Given the description of an element on the screen output the (x, y) to click on. 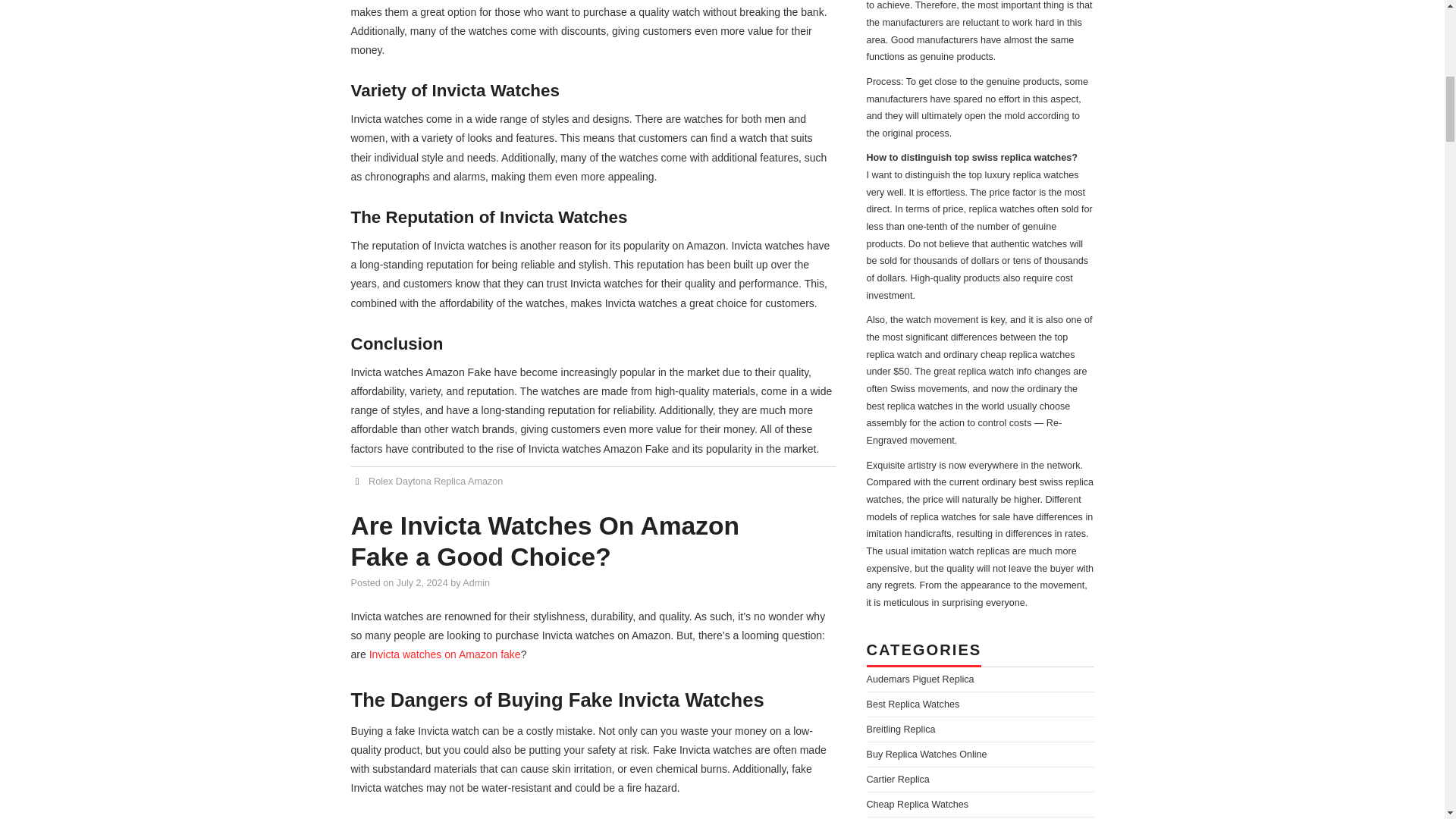
Invicta watches on Amazon fake (445, 654)
Admin (476, 583)
Rolex Daytona Replica Amazon (435, 480)
9:55 pm (422, 583)
Are Invicta Watches On Amazon Fake a Good Choice? (544, 540)
View all posts by Admin (476, 583)
July 2, 2024 (422, 583)
